Given the description of an element on the screen output the (x, y) to click on. 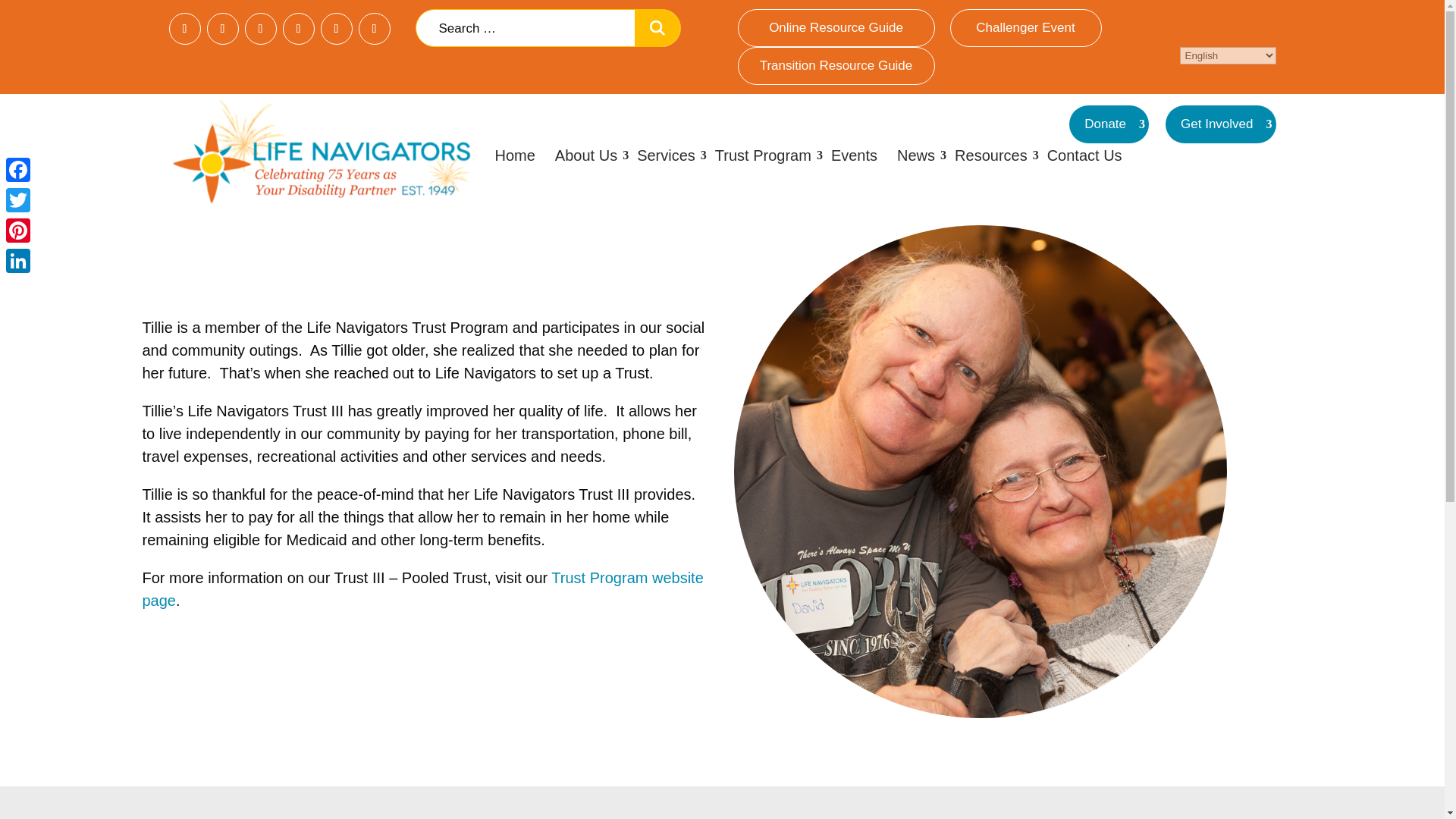
Trust Program (768, 155)
Follow on LinkedIn (298, 29)
Search (656, 27)
Search (656, 27)
Follow on Pinterest (336, 29)
Follow on Facebook (184, 29)
Follow on X (222, 29)
Follow on Youtube (374, 29)
Follow on Instagram (260, 29)
Challenger Event (1024, 27)
Search (656, 27)
Transition Resource Guide (835, 65)
Online Resource Guide (835, 27)
